Given the description of an element on the screen output the (x, y) to click on. 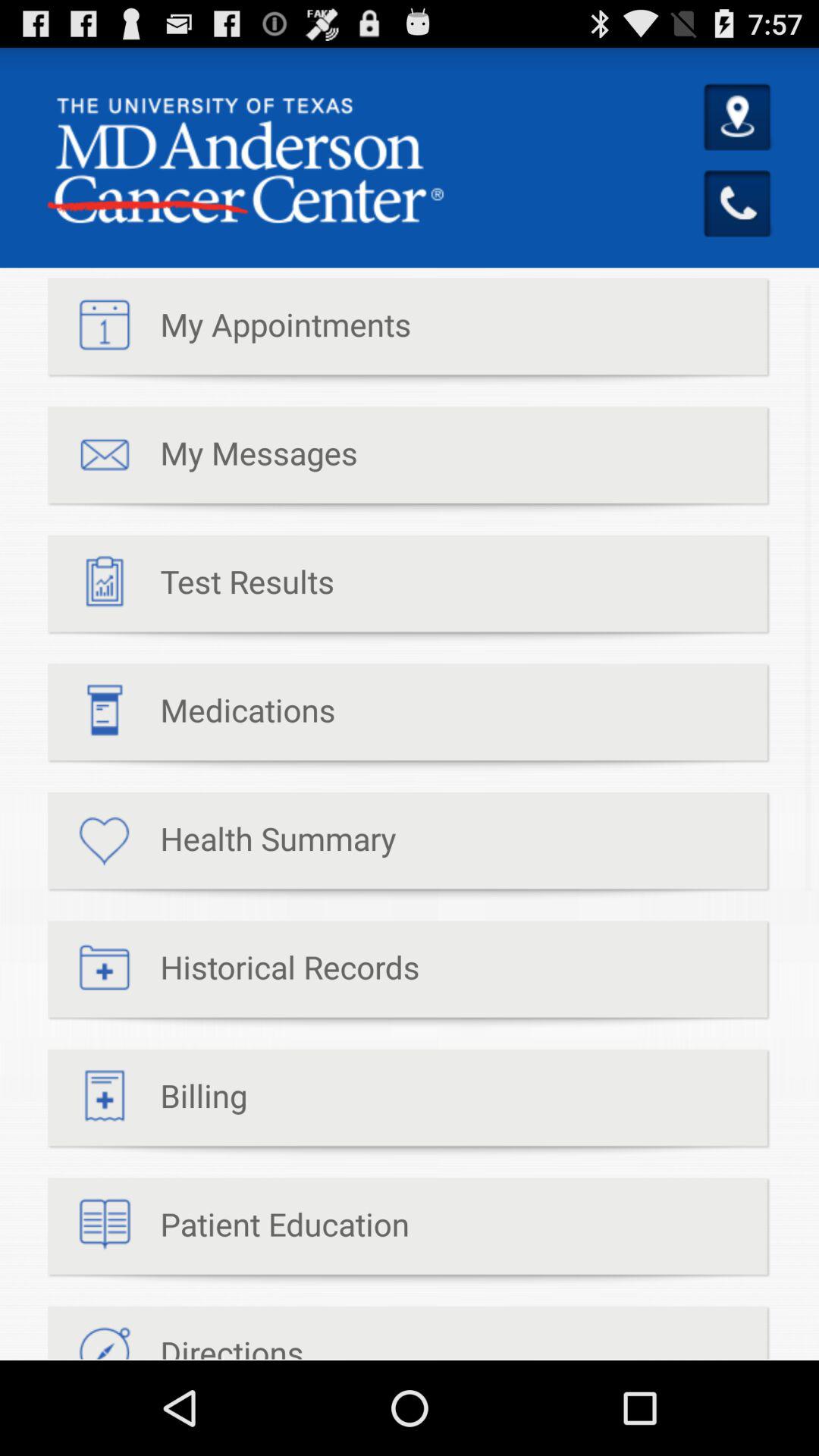
click billing icon (147, 1103)
